Given the description of an element on the screen output the (x, y) to click on. 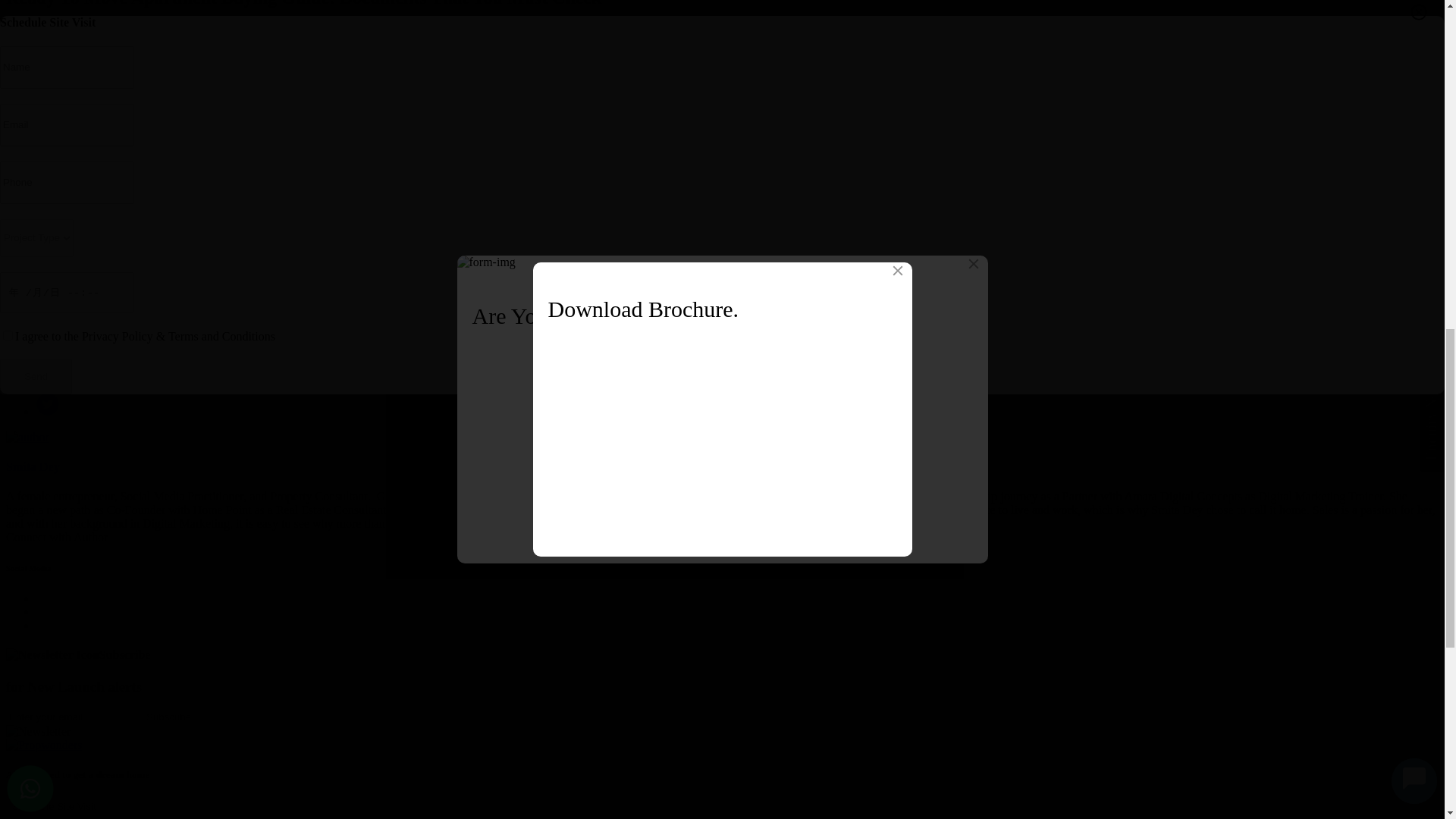
YOUR DREAM HOME IS JUST A CLICK AWAY! (181, 251)
Subscribe (167, 716)
Connect with Author (56, 536)
Schedule Site Visit (53, 806)
Posted by Barbara Cartland (32, 466)
Please enter valid email address (72, 716)
Smita Dey (32, 466)
